Given the description of an element on the screen output the (x, y) to click on. 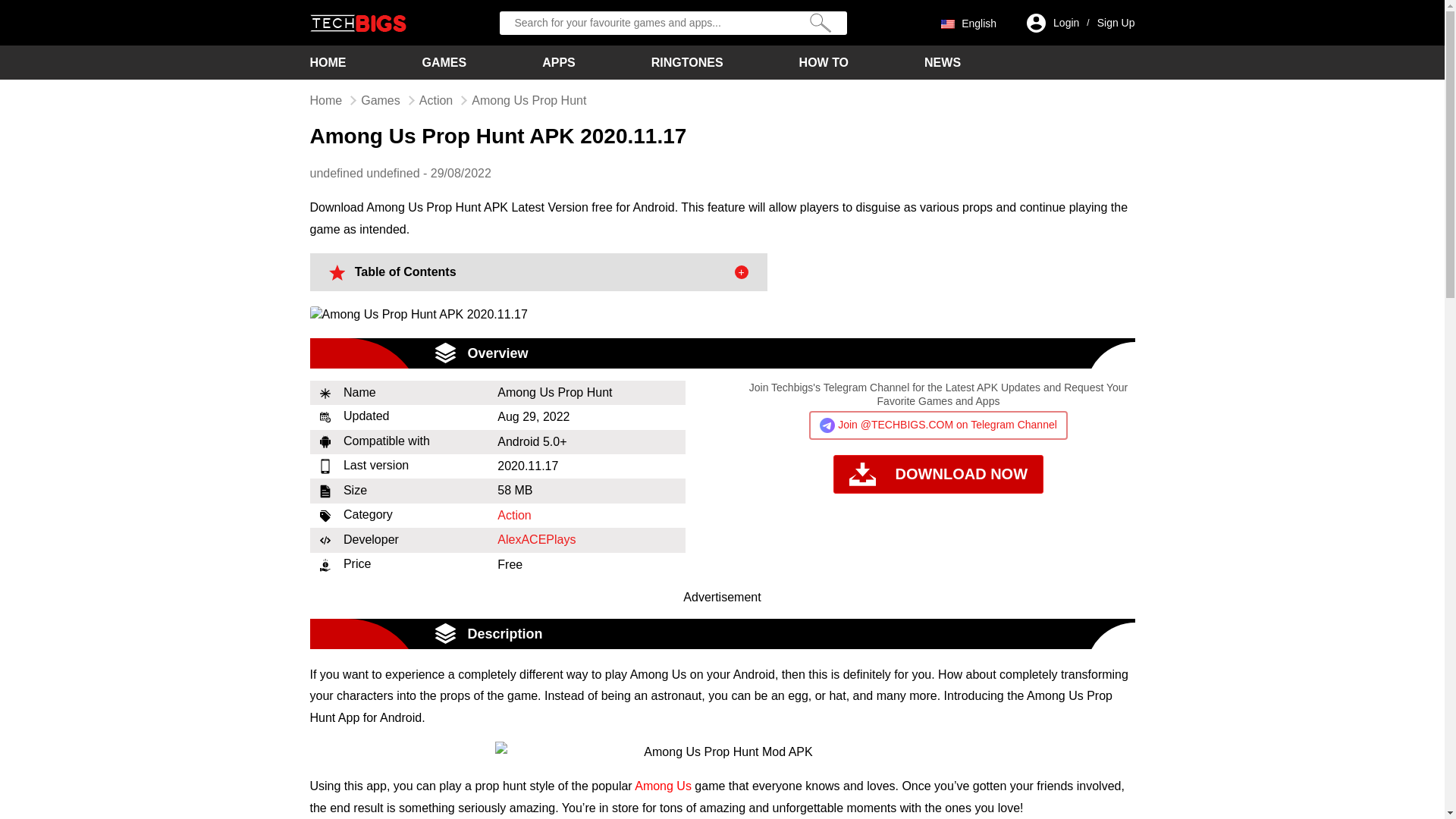
GAMES (443, 62)
HOW TO (823, 62)
English (967, 22)
APPS (558, 62)
NEWS (942, 62)
Home (327, 62)
Games (380, 100)
HOME (327, 62)
Sign Up (1116, 23)
AlexACEPlays (536, 539)
Ringtones (686, 62)
Among Us (662, 785)
Apps (558, 62)
Action (435, 100)
Login (1065, 23)
